Given the description of an element on the screen output the (x, y) to click on. 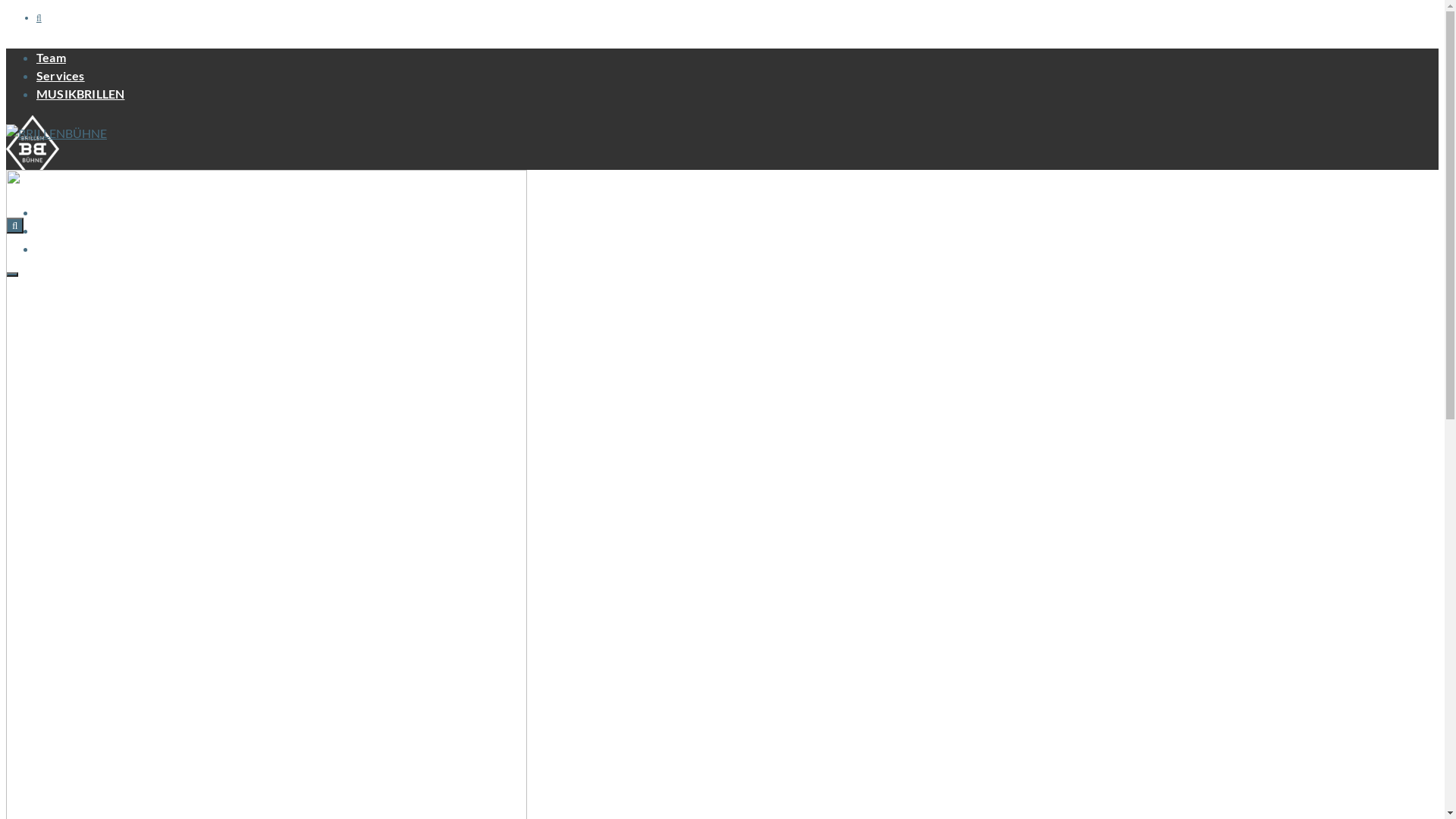
Services Element type: text (60, 75)
Styles Element type: text (53, 248)
Sponsoring Element type: text (67, 229)
Events Element type: text (55, 211)
MUSIKBRILLEN Element type: text (80, 93)
Team Element type: text (50, 57)
